Given the description of an element on the screen output the (x, y) to click on. 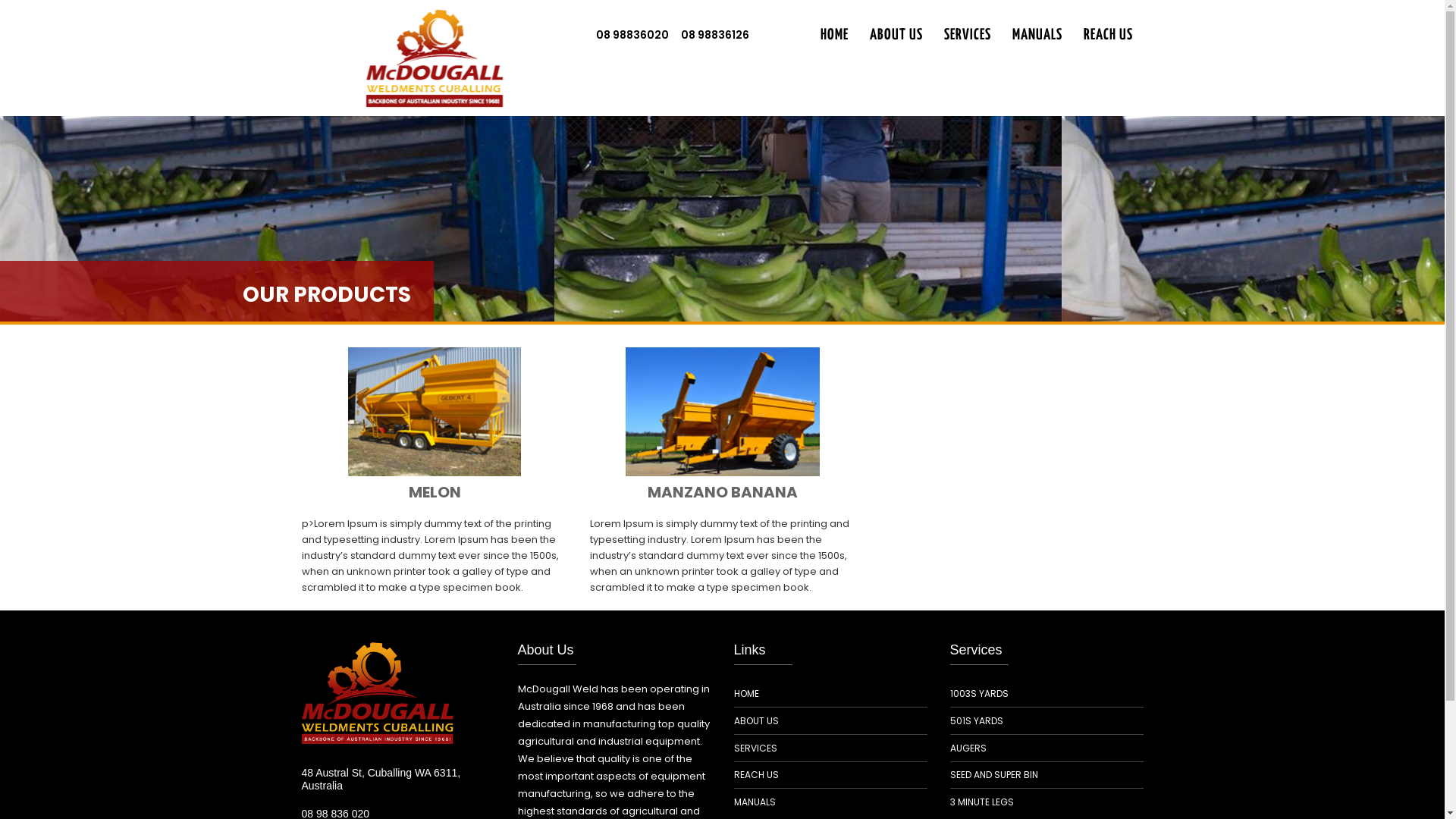
MANUALS Element type: text (754, 802)
SERVICES Element type: text (966, 36)
3 MINUTE LEGS Element type: text (981, 802)
ABOUT US Element type: text (756, 721)
HOME Element type: text (746, 693)
ABOUT US Element type: text (895, 36)
08 98836020 Element type: text (631, 34)
SEED AND SUPER BIN Element type: text (993, 774)
1003S YARDS Element type: text (978, 693)
SERVICES Element type: text (755, 747)
AUGERS Element type: text (967, 747)
MANUALS Element type: text (1036, 36)
501S YARDS Element type: text (975, 721)
HOME Element type: text (834, 36)
08 98836126 Element type: text (714, 34)
REACH US Element type: text (1107, 36)
REACH US Element type: text (756, 774)
